Given the description of an element on the screen output the (x, y) to click on. 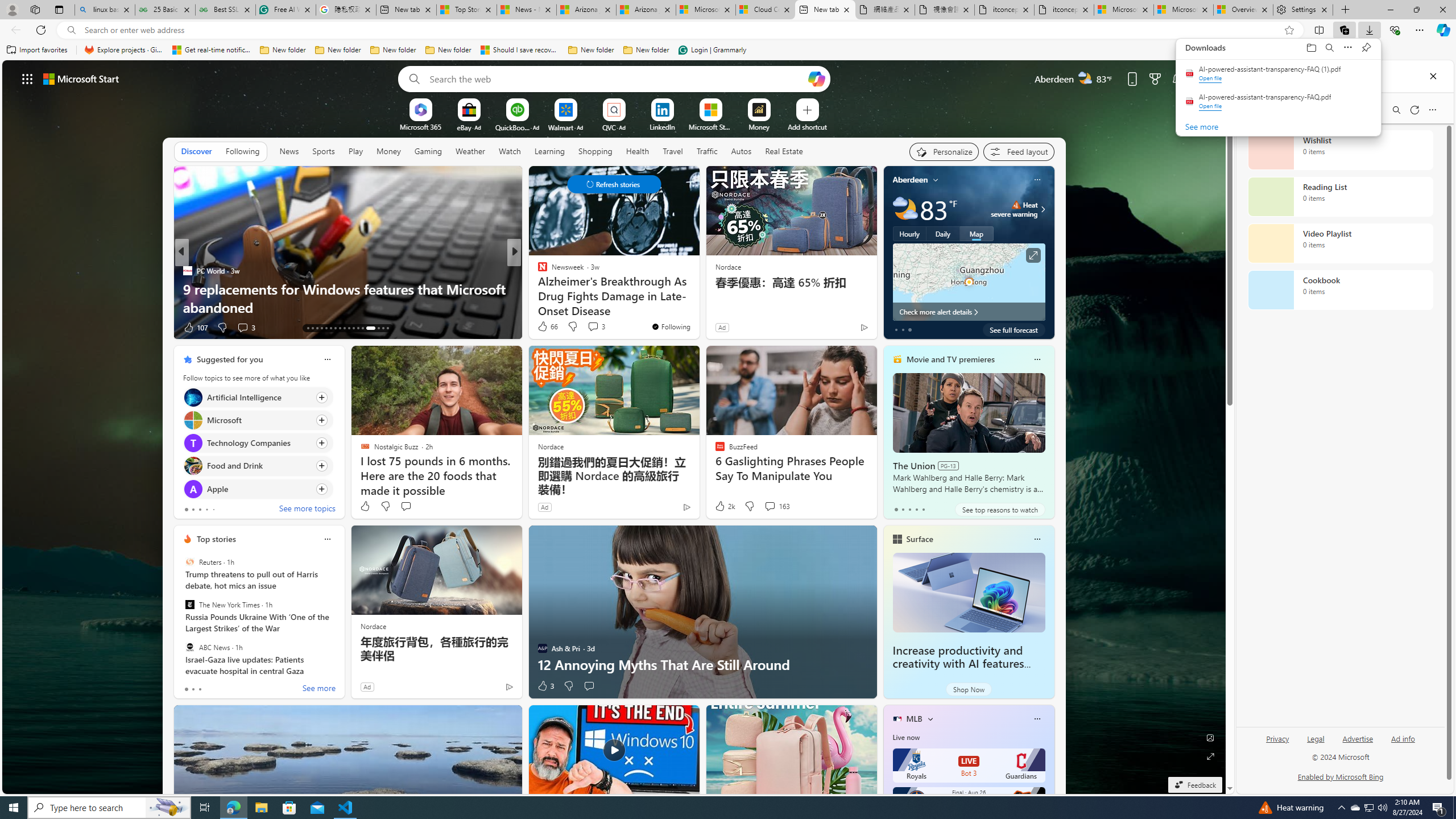
Ad info (1402, 738)
Microsoft rewards (1155, 78)
Add a site (807, 126)
Click to follow topic Food and Drink (257, 465)
More options menu (1432, 109)
Partly cloudy (904, 208)
Reader's Digest (537, 270)
ABC News (189, 646)
Free AI Writing Assistance for Students | Grammarly (285, 9)
Shopping (595, 151)
Traffic (706, 151)
Downloads (1338, 47)
